Given the description of an element on the screen output the (x, y) to click on. 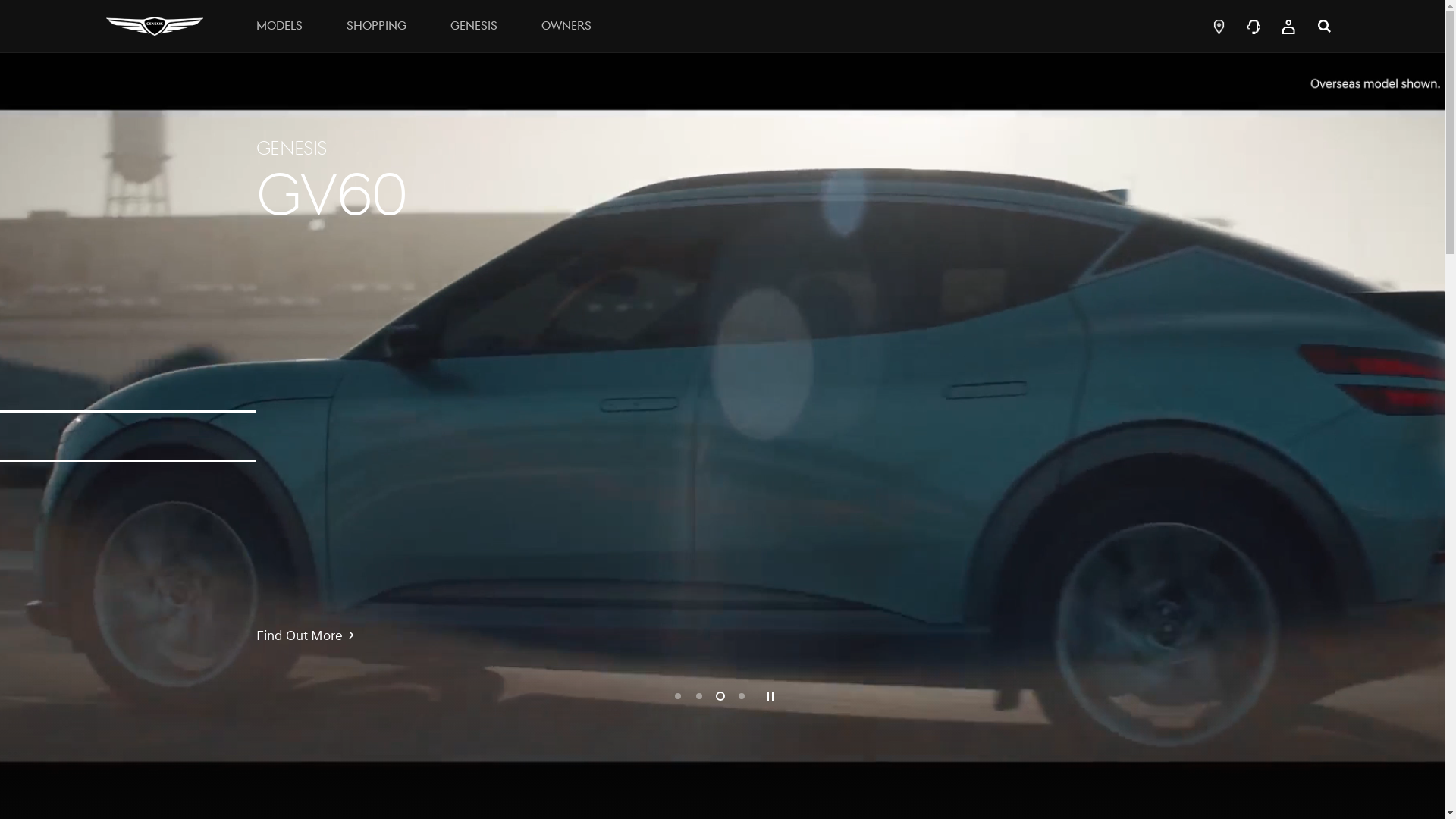
Models Element type: text (279, 26)
Pause Element type: text (770, 695)
slide2 Element type: text (698, 695)
slide4 Element type: text (741, 695)
MY GENESIS Element type: text (1288, 26)
slide1 Element type: text (677, 695)
Owners Element type: text (566, 26)
Genesis Element type: hover (154, 26)
  Element type: text (1213, 26)
Genesis Element type: text (473, 26)
slide3 Element type: text (720, 695)
Open search layer Element type: text (1324, 26)
Support Element type: text (1253, 26)
Shopping Element type: text (376, 26)
